Given the description of an element on the screen output the (x, y) to click on. 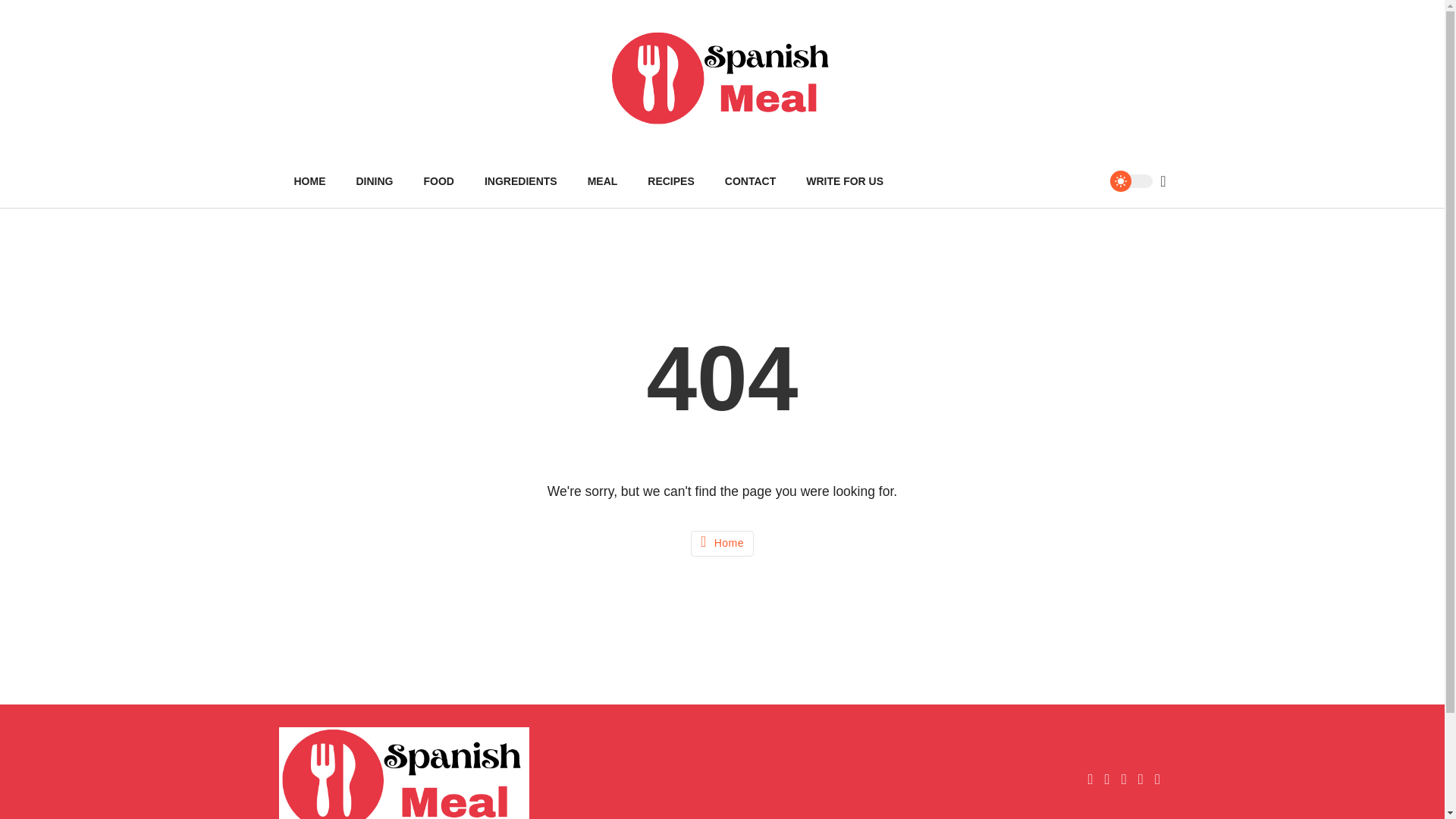
Home (722, 543)
WRITE FOR US (844, 181)
RECIPES (670, 181)
DINING (374, 181)
HOME (309, 181)
CONTACT (750, 181)
MEAL (602, 181)
INGREDIENTS (520, 181)
FOOD (437, 181)
